Given the description of an element on the screen output the (x, y) to click on. 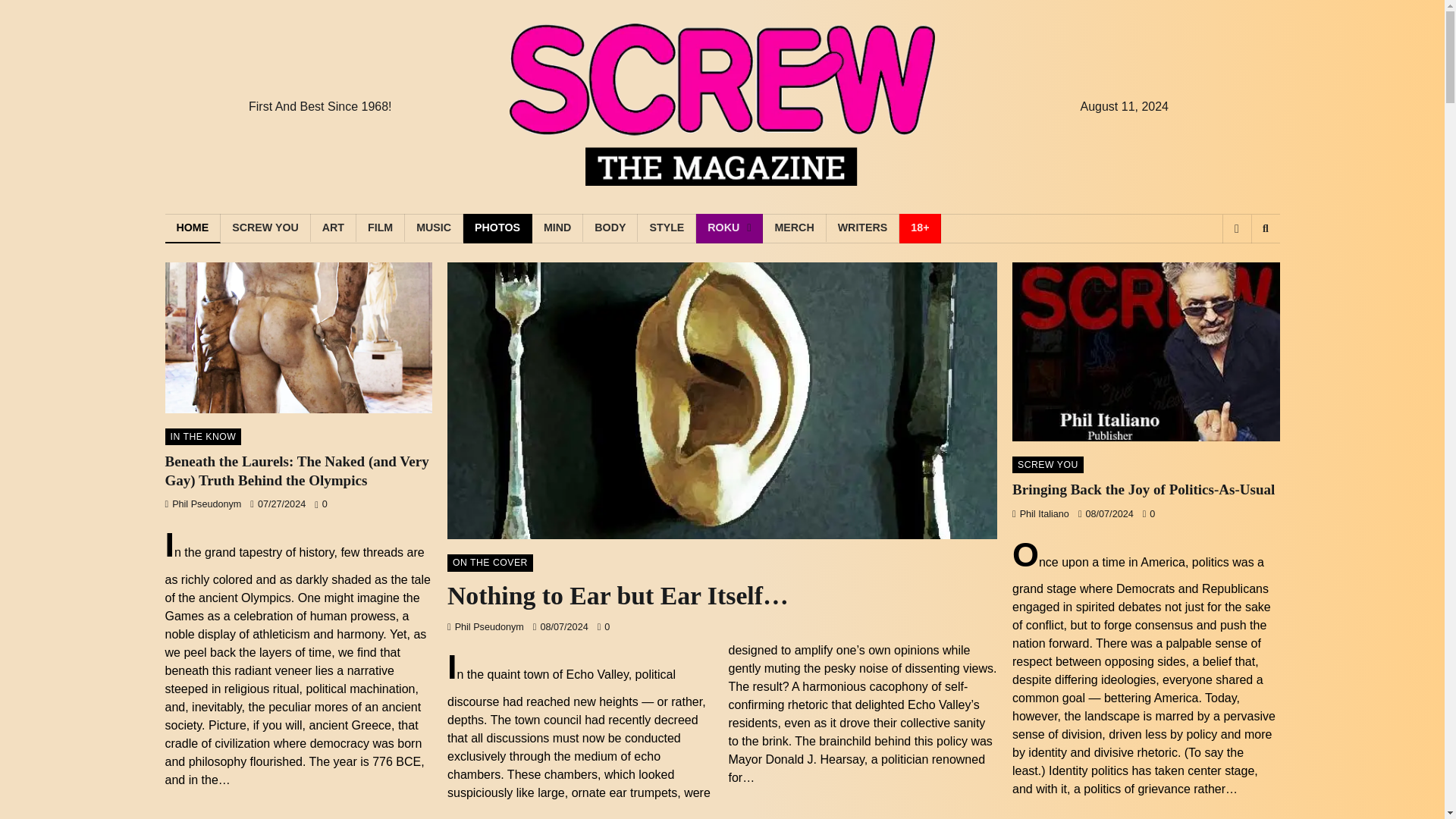
STYLE (666, 227)
MIND (557, 227)
MUSIC (433, 227)
ON THE COVER (489, 562)
WRITERS (863, 227)
PHOTOS (497, 228)
BODY (610, 227)
IN THE KNOW (203, 436)
Search (1240, 267)
Phil Pseudonym (485, 626)
